Given the description of an element on the screen output the (x, y) to click on. 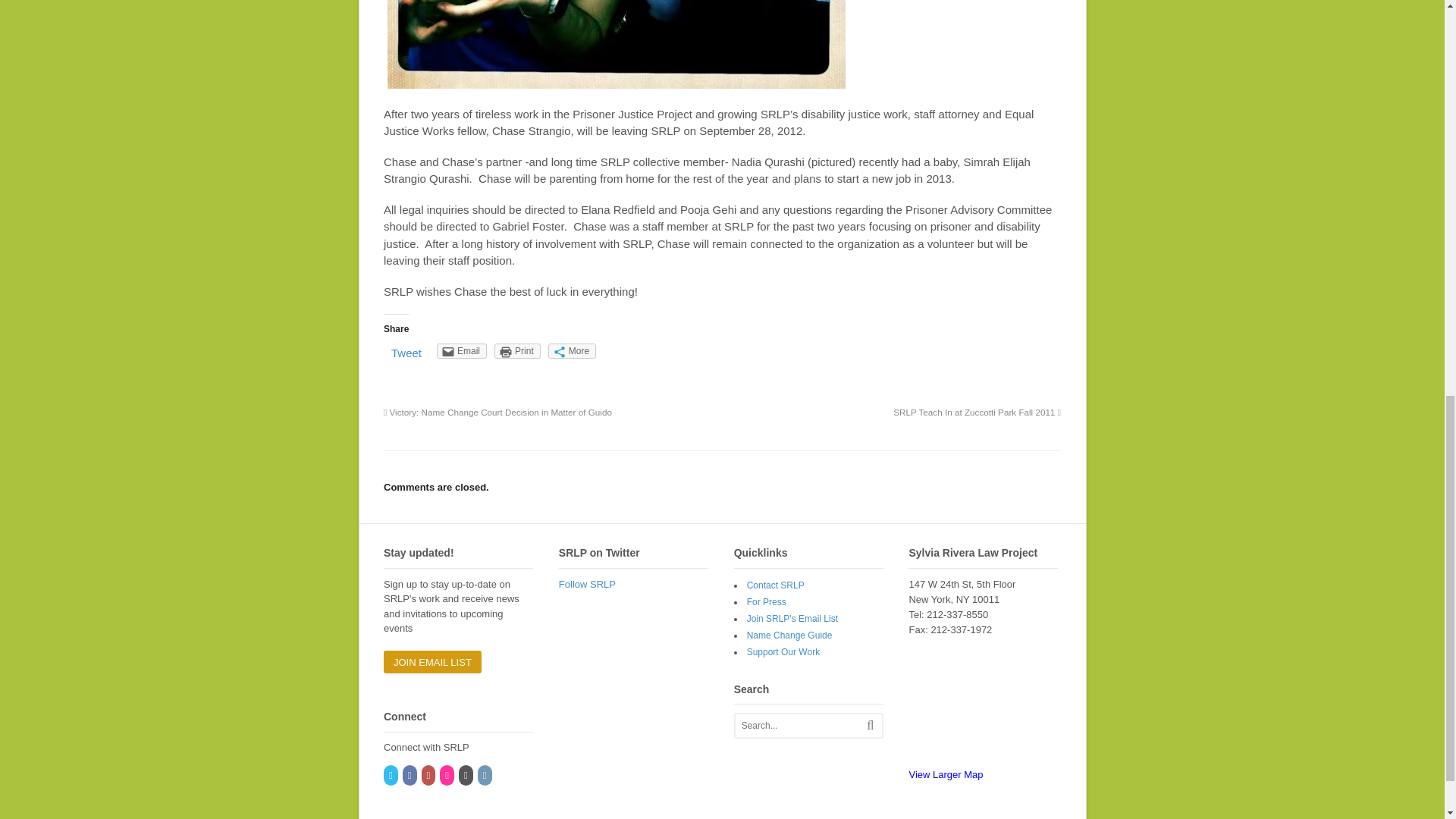
Flickr (447, 775)
Chase and Nadia (616, 46)
YouTube (430, 775)
Facebook (411, 775)
Search... (803, 725)
Click to email this to a friend (461, 350)
Twitter (391, 775)
Click to print (517, 350)
